Given the description of an element on the screen output the (x, y) to click on. 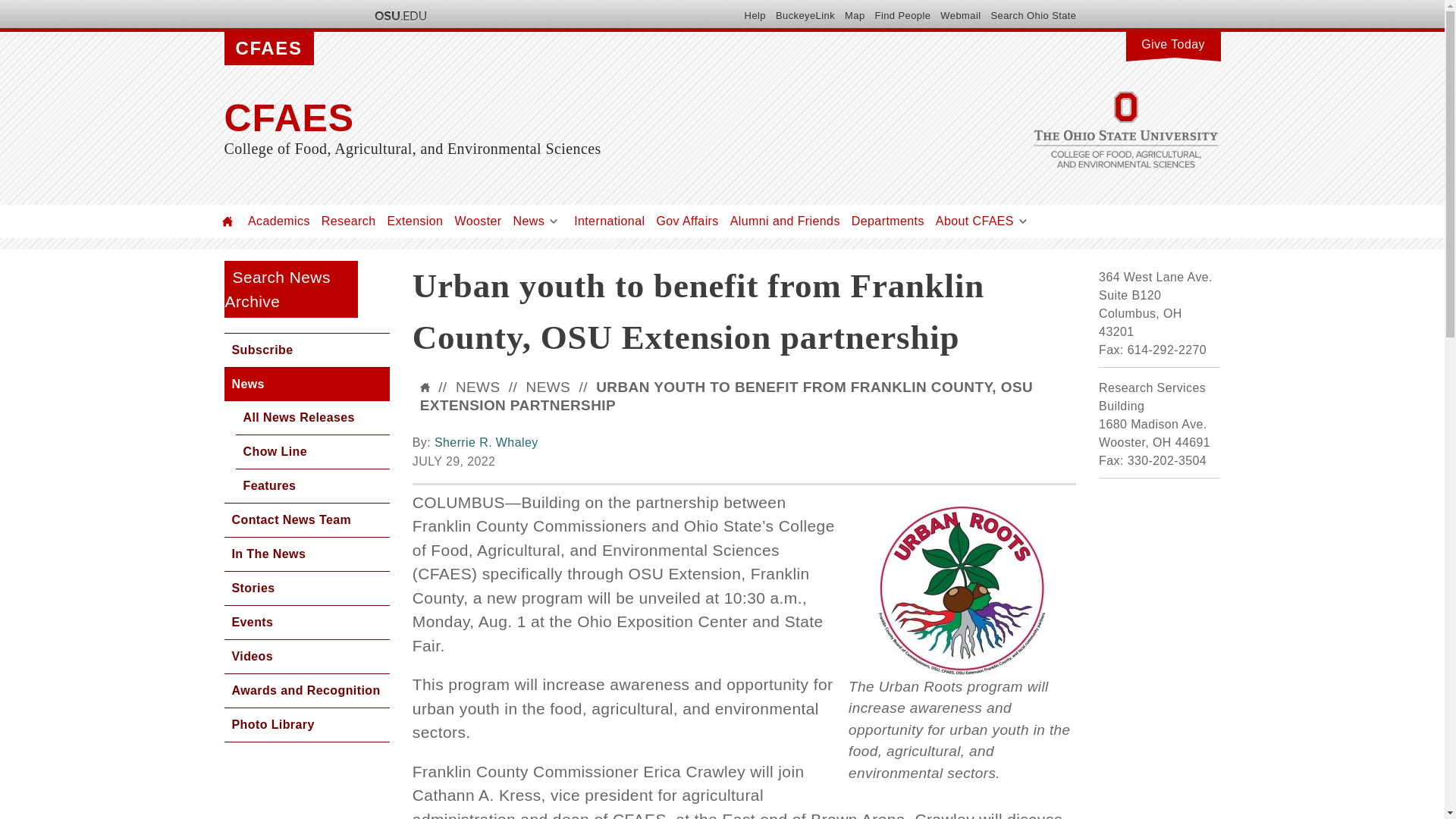
CFAES (572, 118)
Find People (903, 15)
Academics (278, 221)
Gov Affairs (686, 221)
Webmail (959, 15)
Home (572, 118)
BuckeyeLink (805, 15)
News (528, 221)
Departments (887, 221)
